Given the description of an element on the screen output the (x, y) to click on. 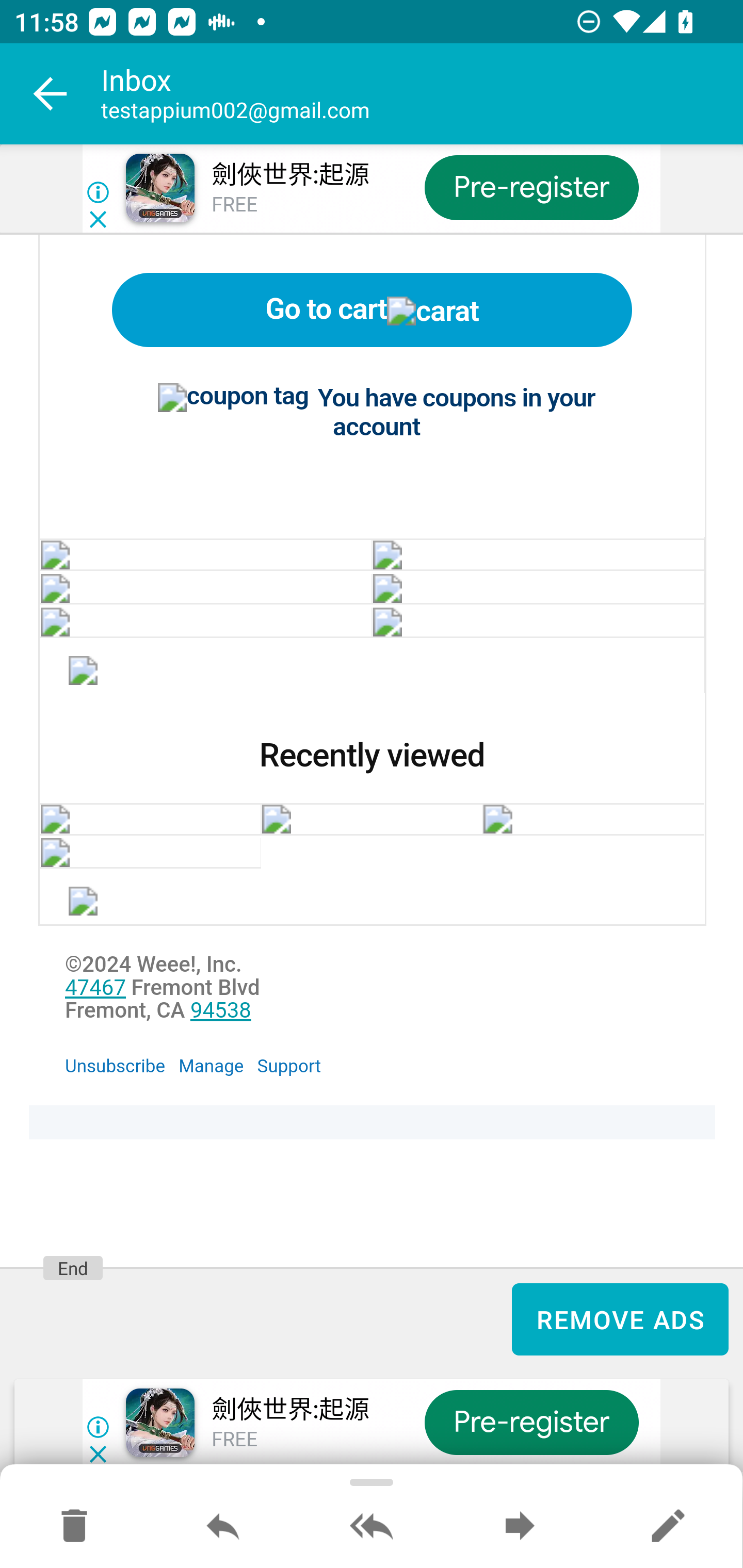
Navigate up (50, 93)
Inbox testappium002@gmail.com (422, 93)
Pre-register (530, 187)
劍俠世界:起源 (289, 175)
FREE (234, 204)
data: (205, 554)
data: (538, 554)
data: (205, 589)
data: (538, 589)
data: (205, 621)
data: (538, 621)
data: (83, 674)
47467 (95, 988)
94538 (220, 1011)
Unsubscribe (115, 1065)
Manage (210, 1065)
Support (289, 1065)
REMOVE ADS (619, 1318)
Pre-register (530, 1422)
劍俠世界:起源 (289, 1410)
FREE (234, 1440)
Move to Deleted (74, 1527)
Reply (222, 1527)
Reply all (371, 1527)
Forward (519, 1527)
Reply as new (667, 1527)
